Given the description of an element on the screen output the (x, y) to click on. 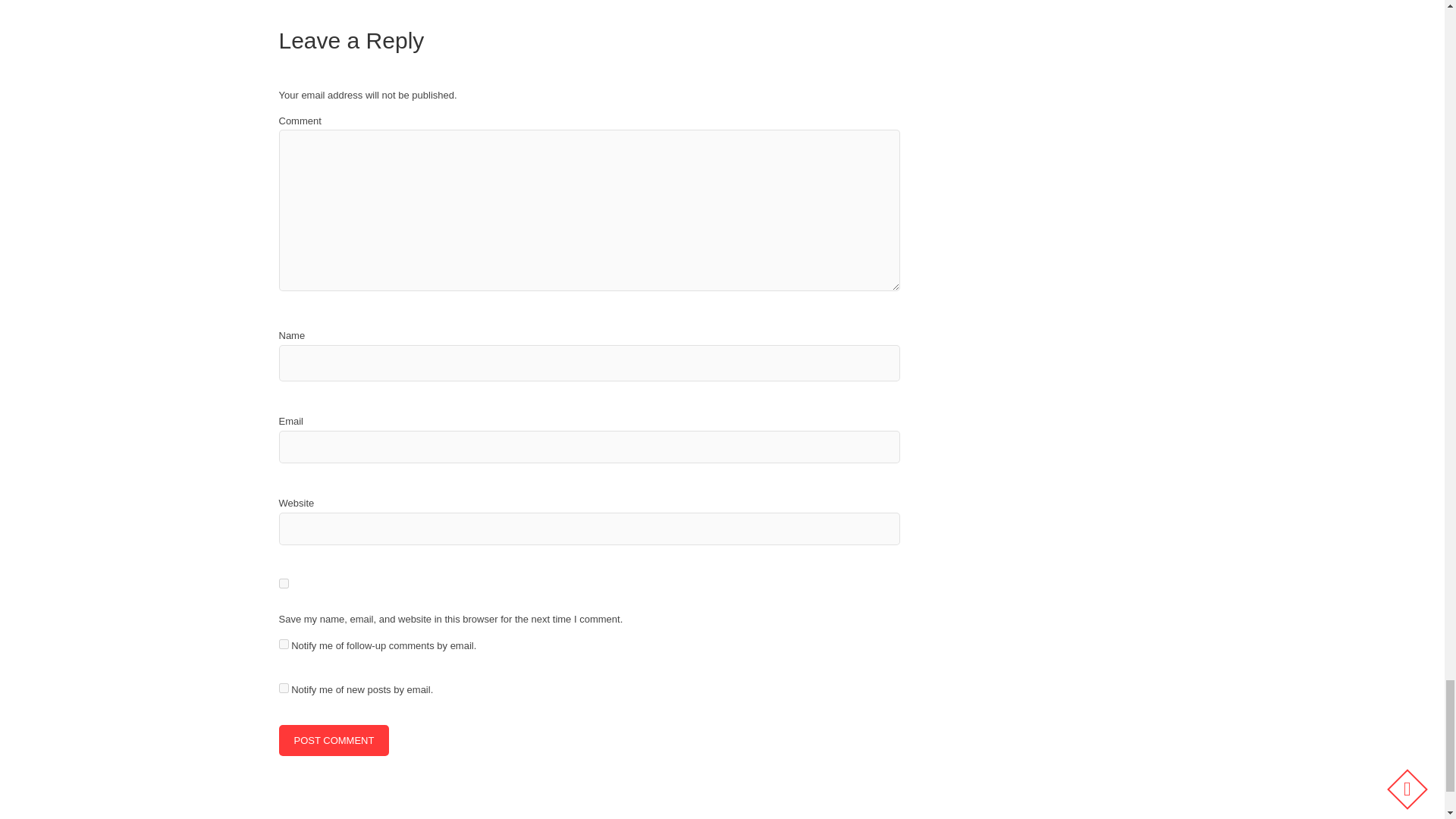
yes (283, 583)
subscribe (283, 644)
Post Comment (334, 739)
subscribe (283, 687)
